Given the description of an element on the screen output the (x, y) to click on. 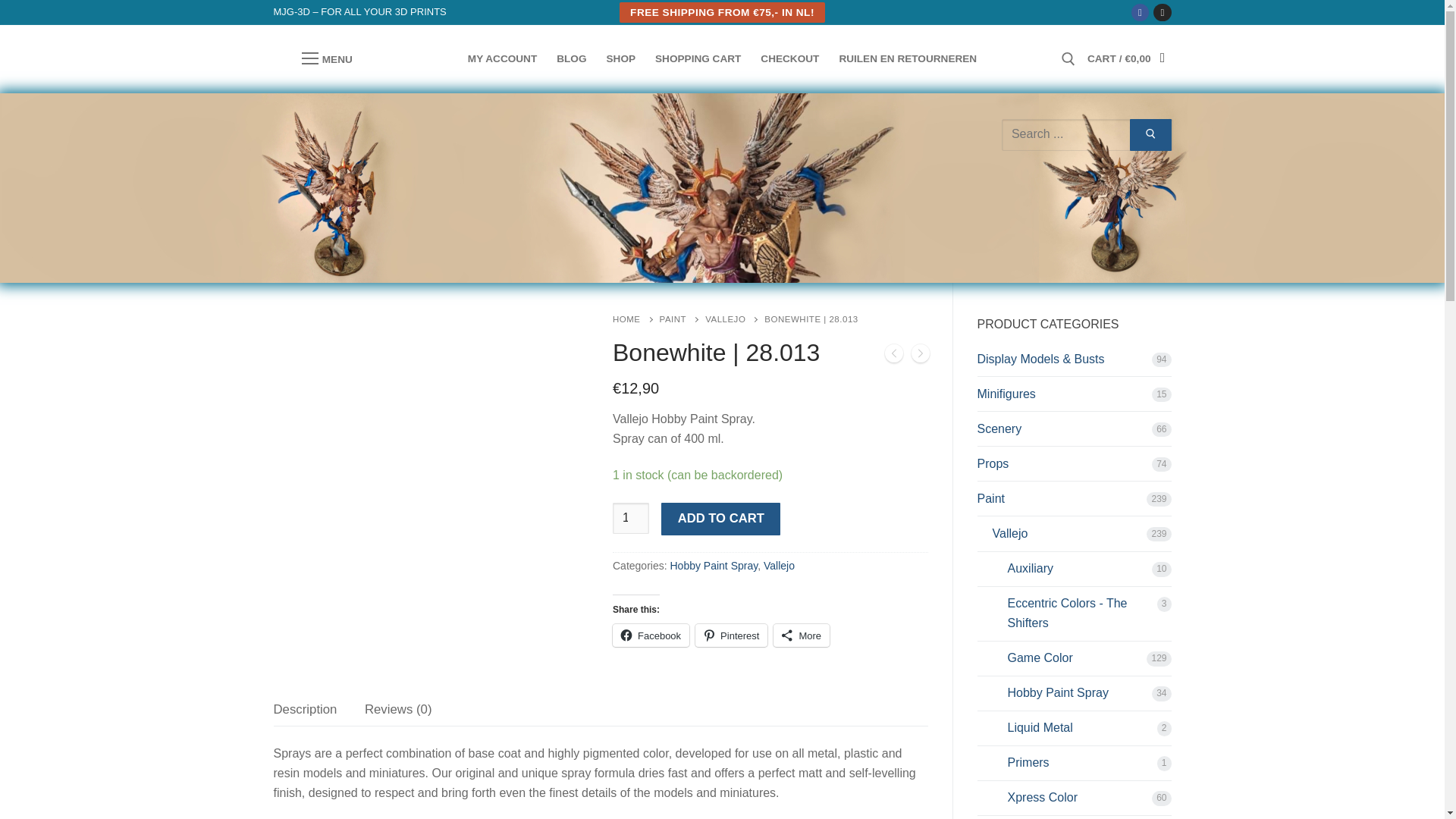
Search for: (1087, 133)
Click to share on Pinterest (731, 635)
HOME (635, 318)
Instagram (1162, 12)
SHOP (621, 59)
MY ACCOUNT (502, 59)
Facebook (1139, 12)
VALLEJO (734, 318)
CHECKOUT (789, 59)
Facebook (650, 635)
More (801, 635)
Hobby Paint Spray (713, 565)
ADD TO CART (720, 518)
Pinterest (731, 635)
Vallejo (778, 565)
